Given the description of an element on the screen output the (x, y) to click on. 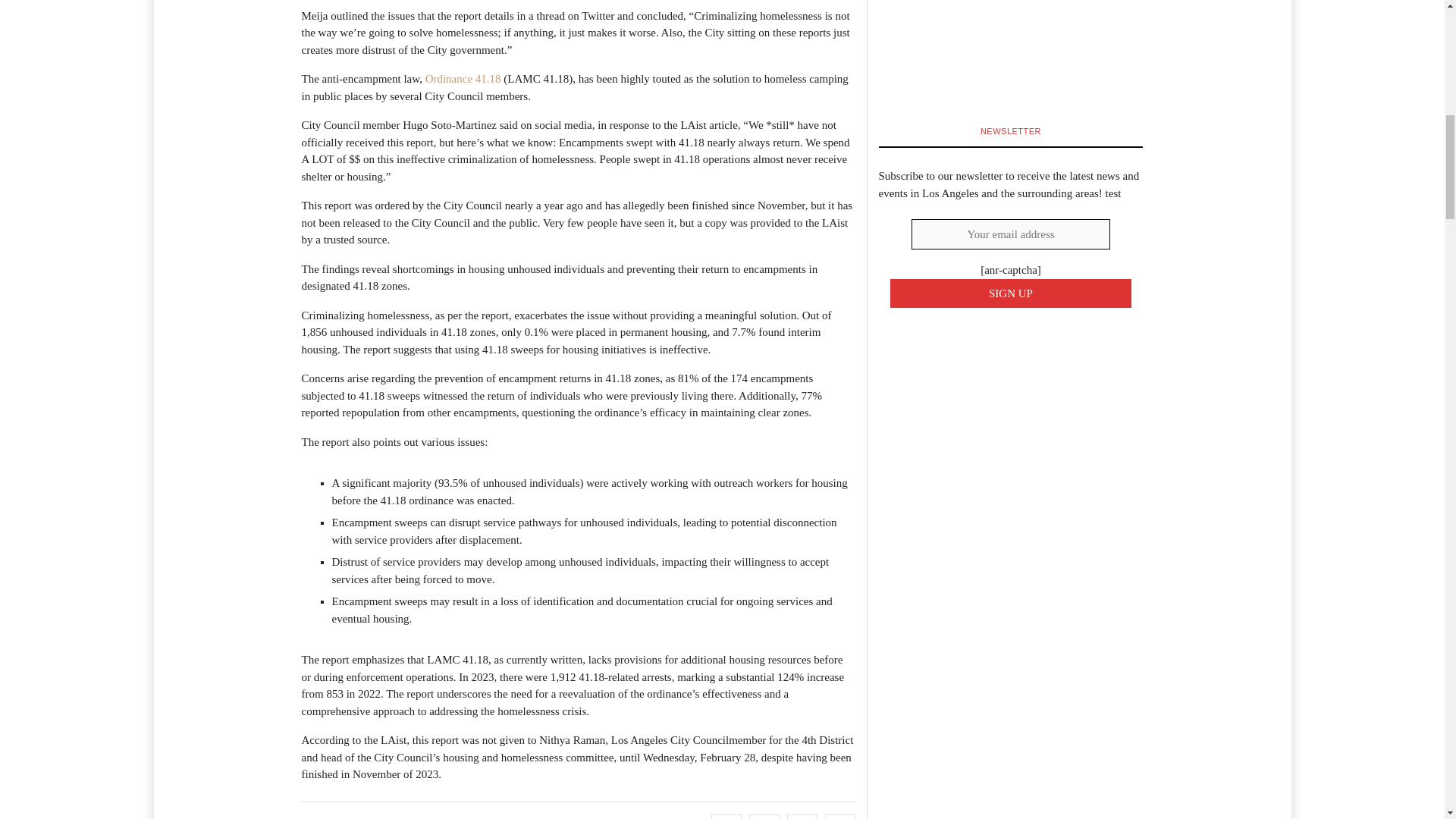
Sign up (1010, 293)
Ordinance 41.18 (462, 78)
